Given the description of an element on the screen output the (x, y) to click on. 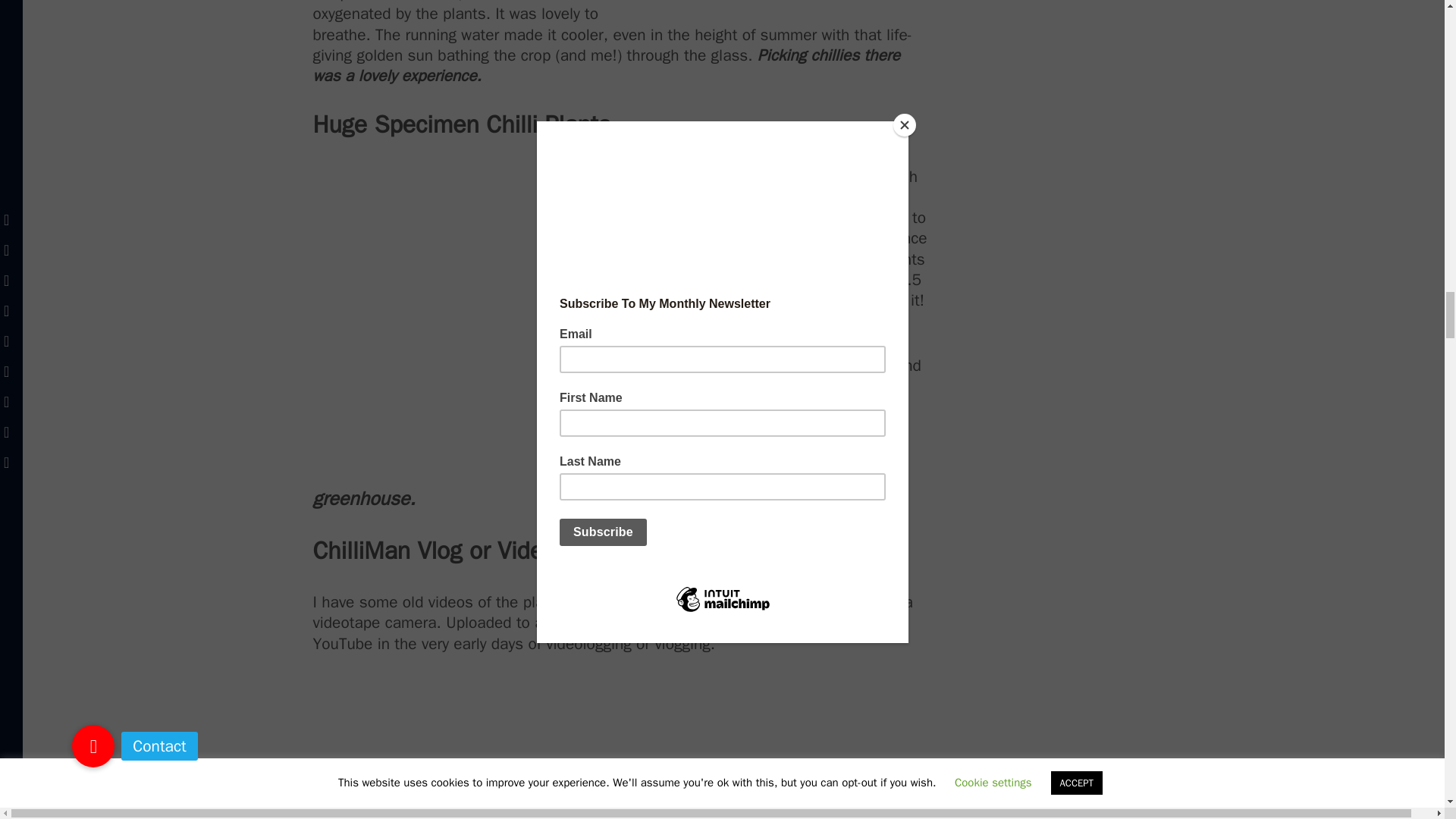
YouTube player (621, 748)
